Given the description of an element on the screen output the (x, y) to click on. 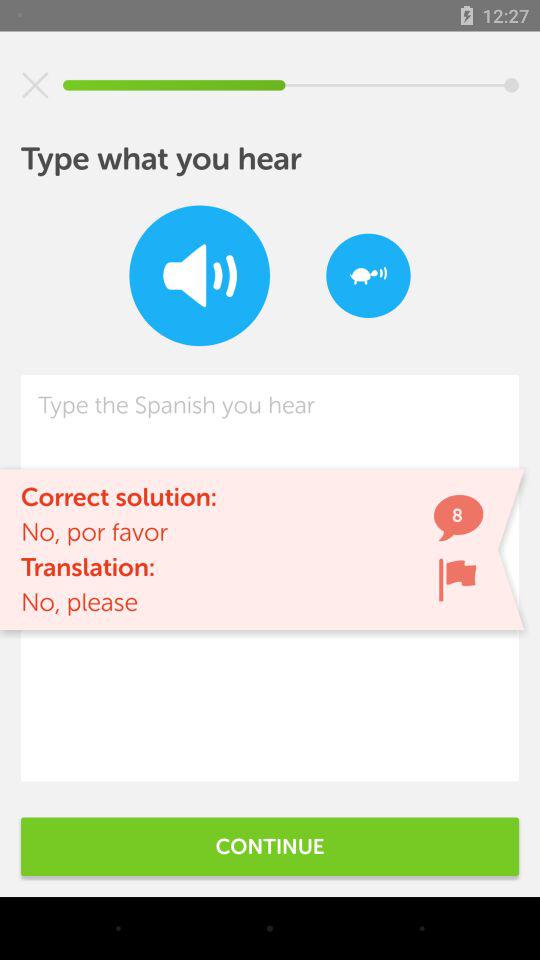
answer textbox (270, 578)
